Given the description of an element on the screen output the (x, y) to click on. 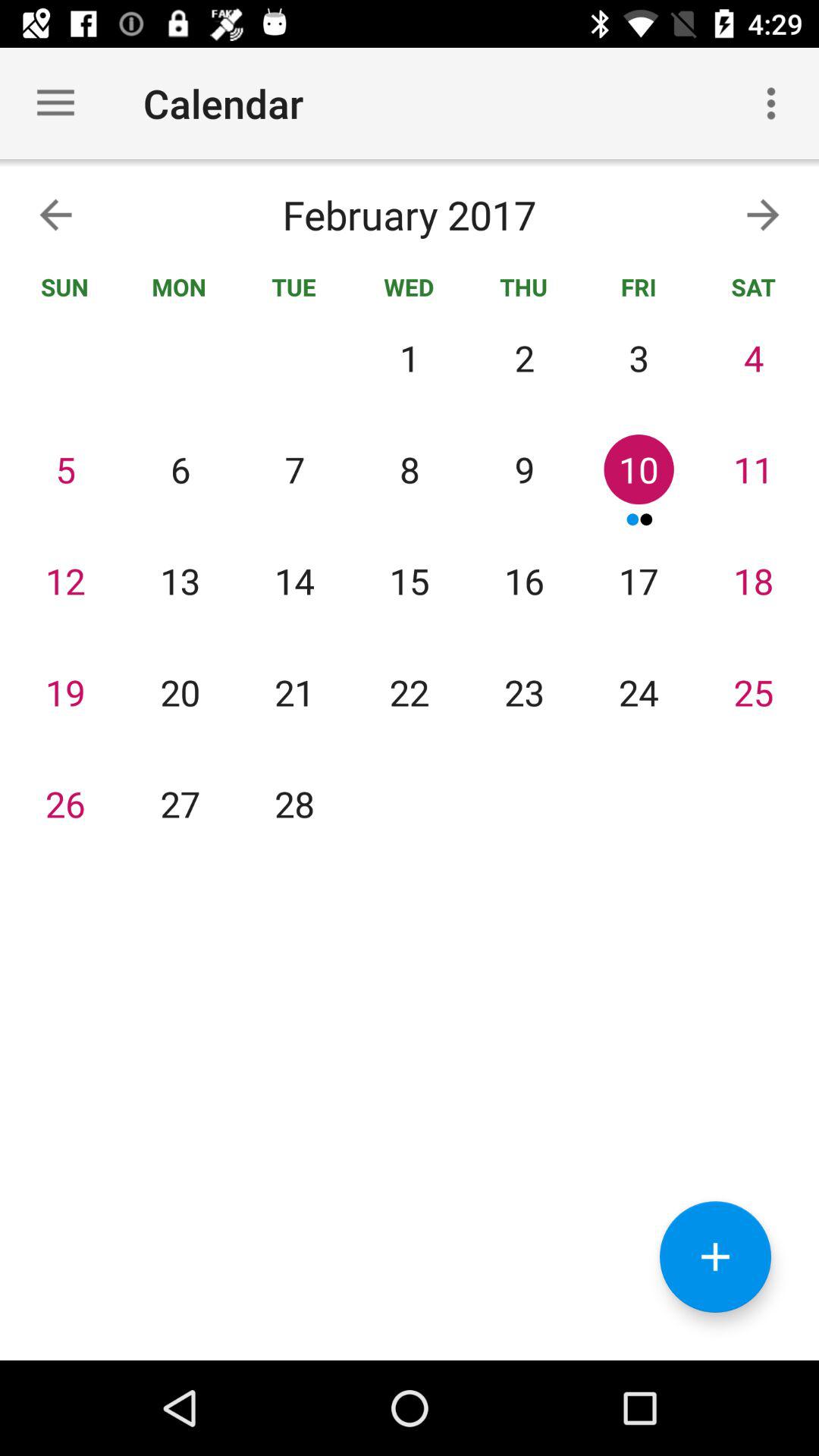
choose the icon next to the calendar icon (771, 103)
